Given the description of an element on the screen output the (x, y) to click on. 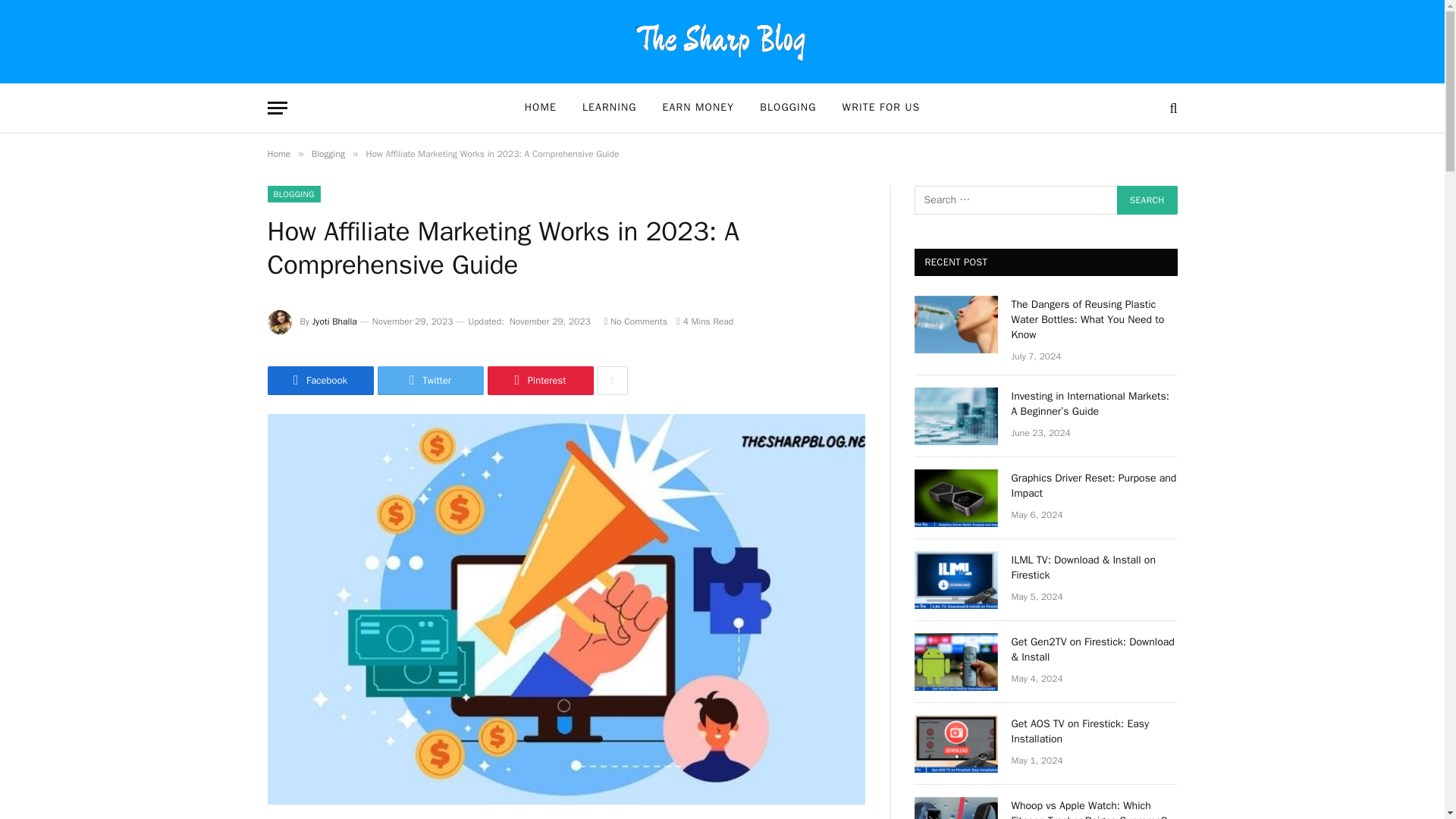
WRITE FOR US (881, 107)
HOME (540, 107)
Facebook (319, 380)
Share on Pinterest (539, 380)
BLOGGING (787, 107)
EARN MONEY (698, 107)
Home (277, 153)
Twitter (430, 380)
Blogging (328, 153)
Share on Twitter (430, 380)
Pinterest (539, 380)
BLOGGING (293, 193)
No Comments (635, 321)
Search (1146, 199)
LEARNING (609, 107)
